Given the description of an element on the screen output the (x, y) to click on. 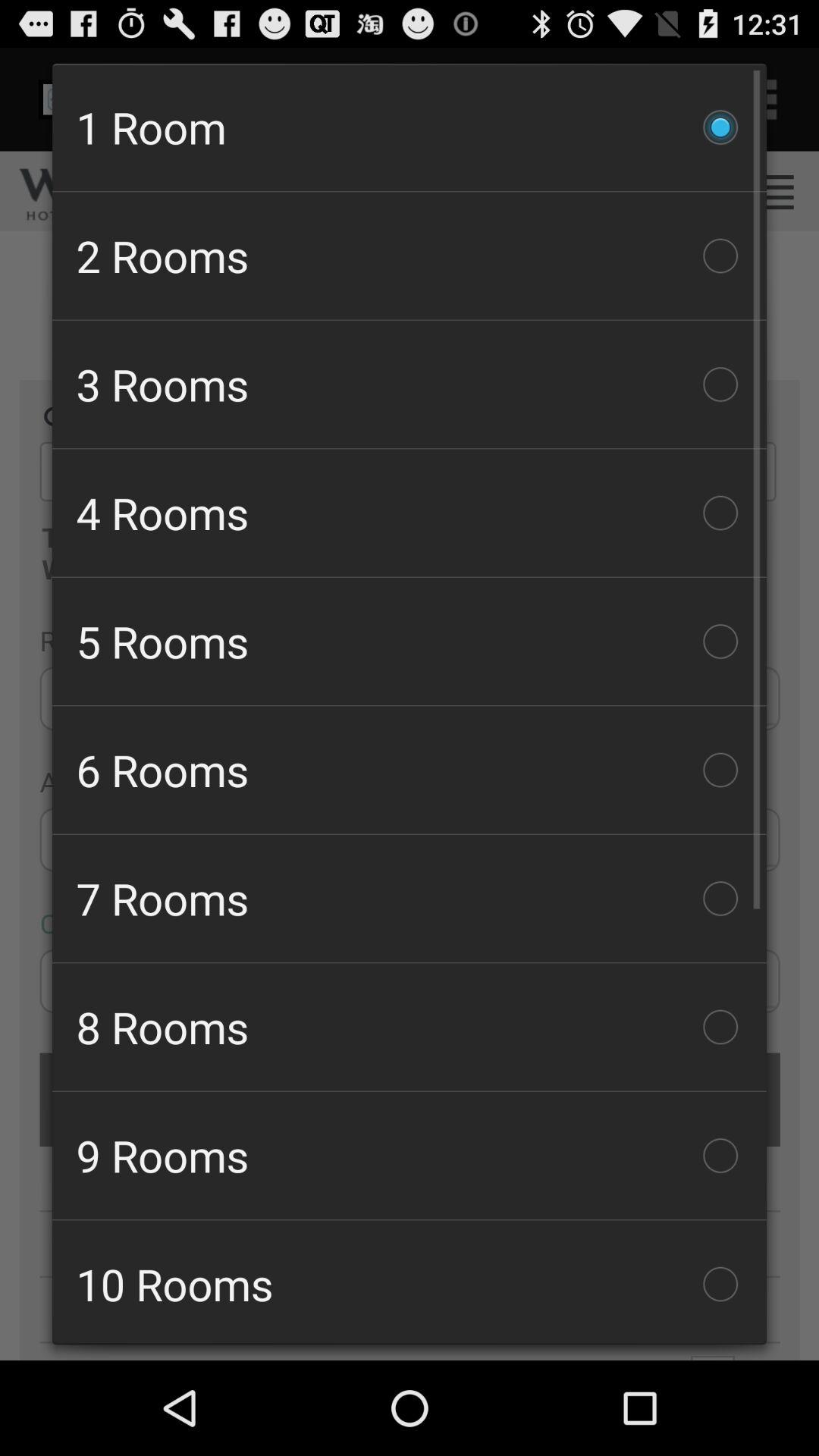
choose the checkbox above 6 rooms (409, 641)
